Given the description of an element on the screen output the (x, y) to click on. 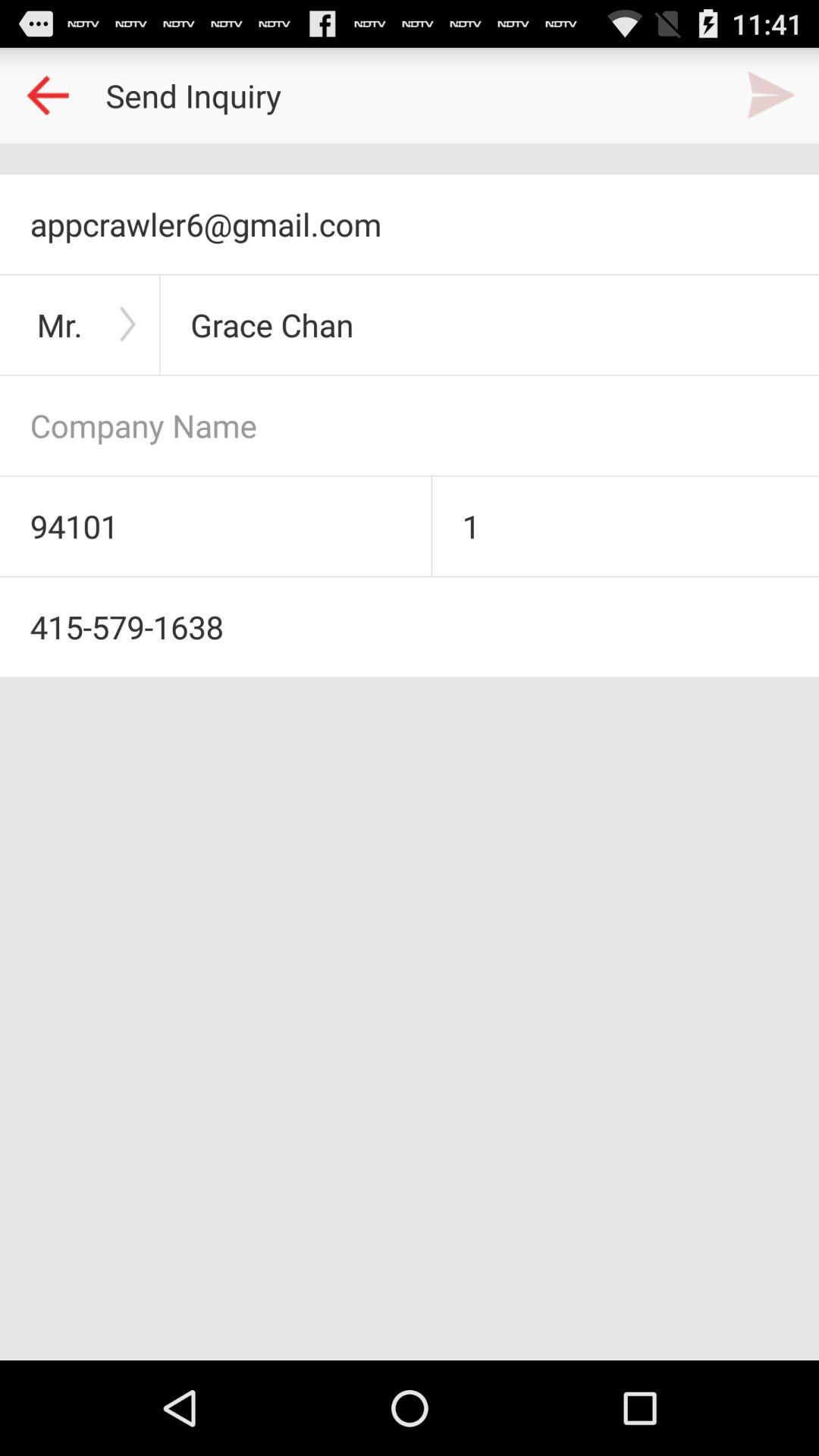
next page (771, 95)
